Given the description of an element on the screen output the (x, y) to click on. 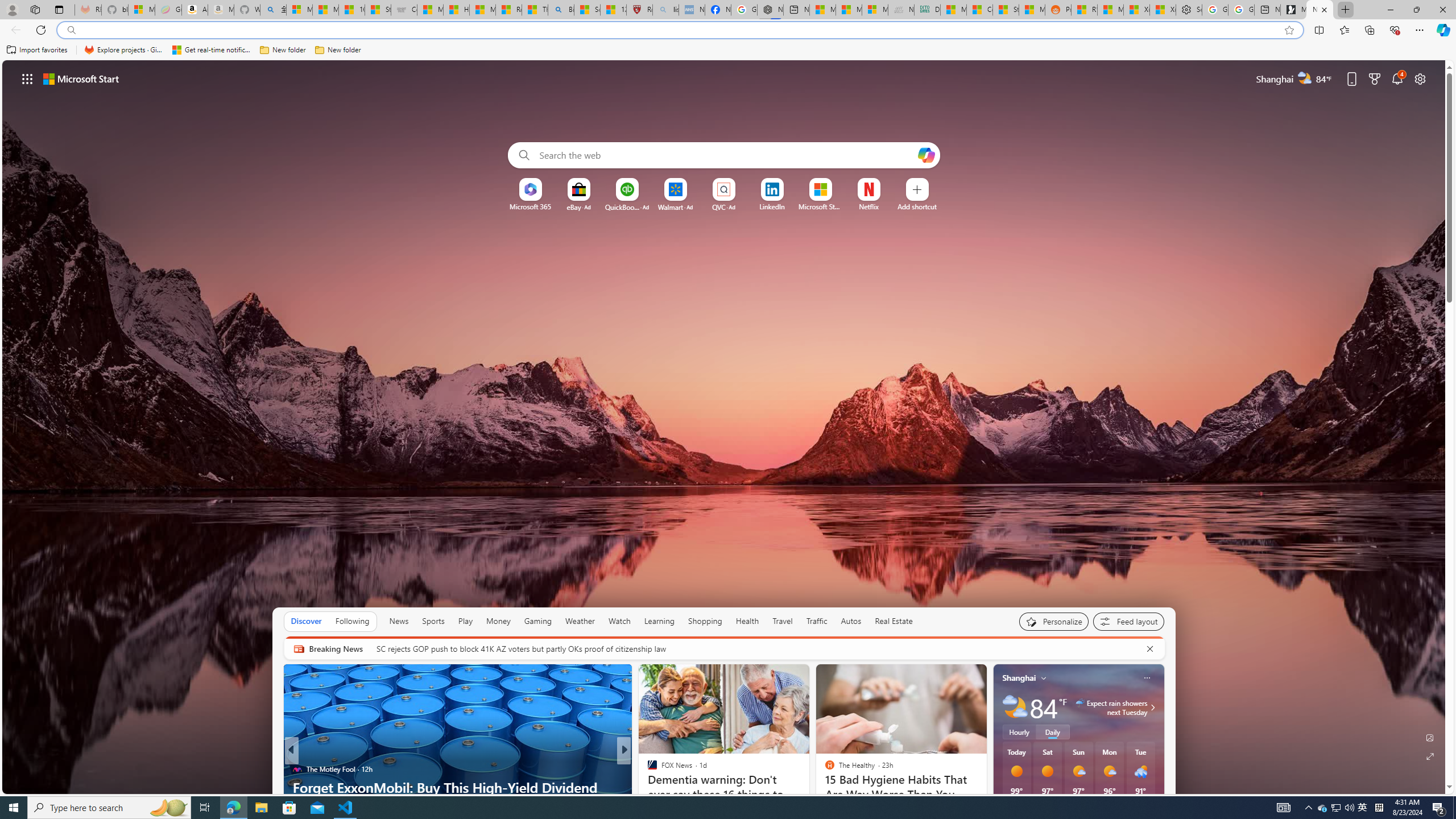
Rain showers (1140, 771)
My location (1043, 677)
Add a site (916, 206)
